Given the description of an element on the screen output the (x, y) to click on. 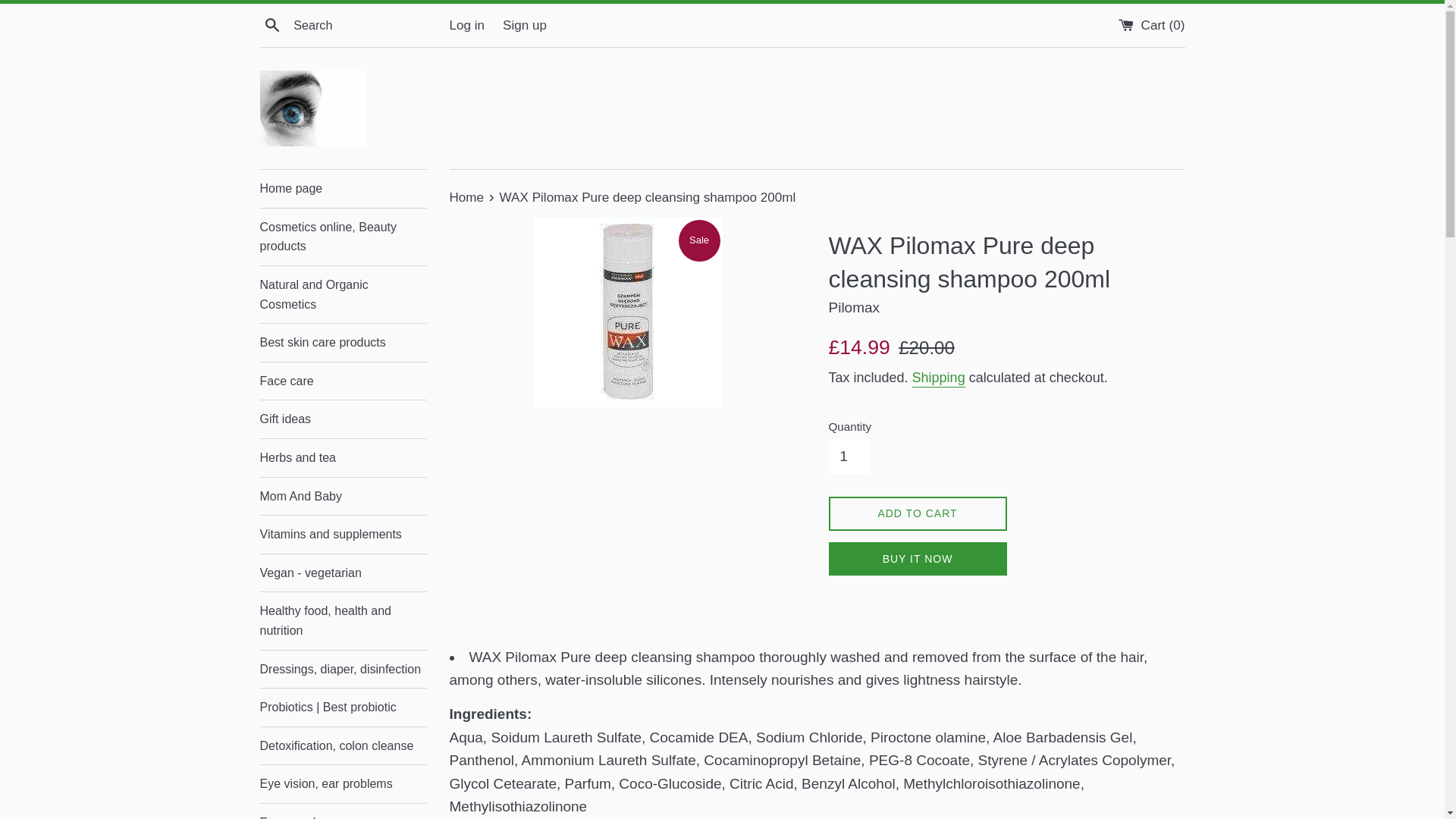
Mom And Baby (342, 496)
Search (271, 24)
Log in (466, 25)
Healthy food, health and nutrition (342, 620)
Natural and Organic Cosmetics (342, 294)
Best skin care products (342, 342)
Eye vision, ear problems (342, 783)
Face care (342, 381)
1 (848, 456)
Vitamins and supplements (342, 534)
Back to the frontpage (467, 197)
Sign up (524, 25)
Home page (342, 188)
Herbs and tea (342, 457)
Gift ideas (342, 419)
